Given the description of an element on the screen output the (x, y) to click on. 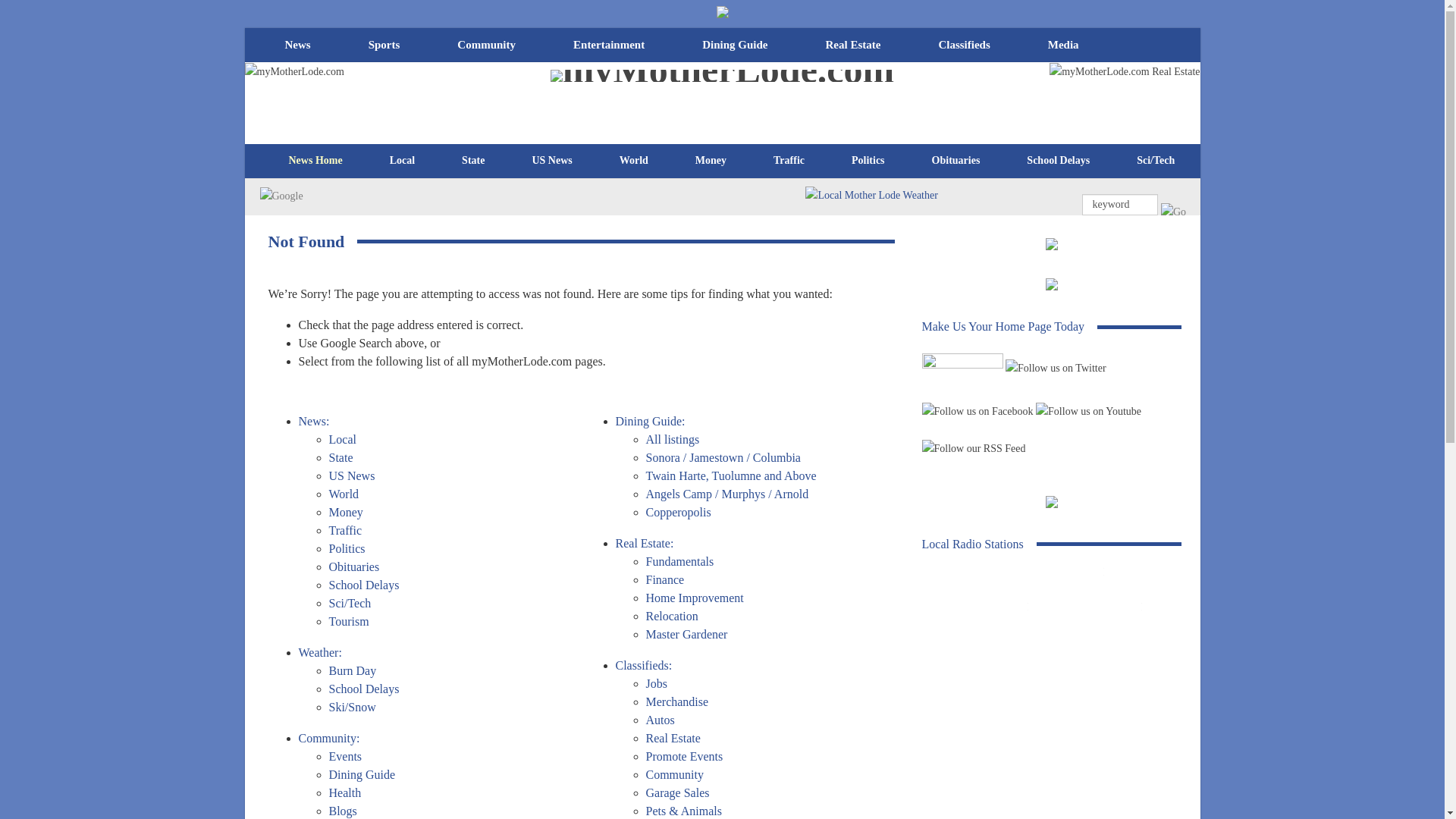
Tourism (1240, 210)
keyword (1119, 264)
Politics (868, 210)
Entertainment (608, 94)
Community (486, 94)
Money (710, 210)
Media (1063, 94)
Local (402, 210)
Sports (384, 94)
News (297, 94)
School Delays (1057, 210)
State (473, 210)
Obituaries (956, 210)
